Given the description of an element on the screen output the (x, y) to click on. 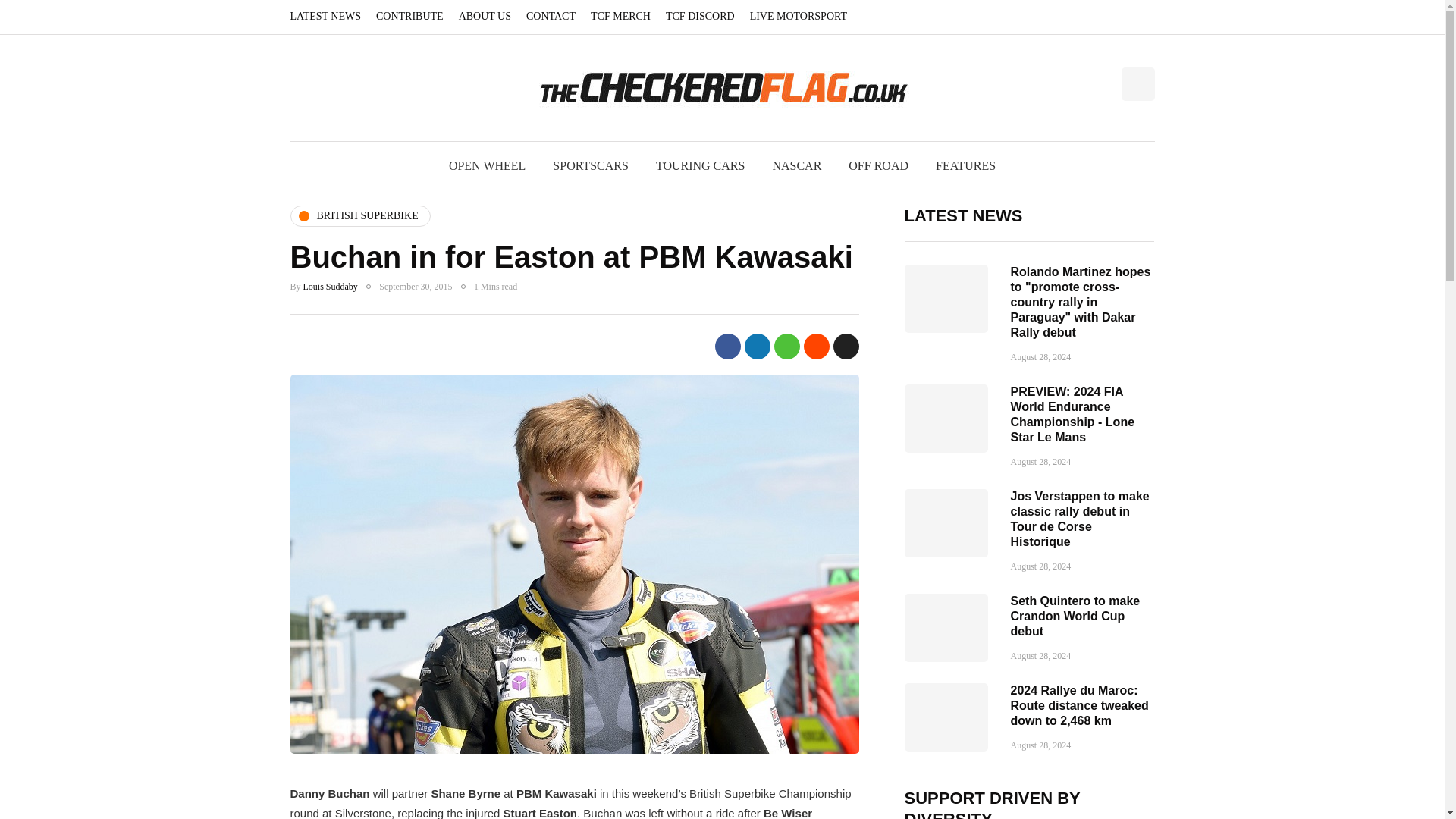
OPEN WHEEL (486, 164)
Share with Facebook (726, 346)
CONTACT (550, 17)
Share by Email (845, 346)
TOURING CARS (700, 164)
TCF MERCH (620, 17)
Share to WhatsApp (786, 346)
Share on Reddit (816, 346)
LIVE MOTORSPORT (798, 17)
SPORTSCARS (590, 164)
